Given the description of an element on the screen output the (x, y) to click on. 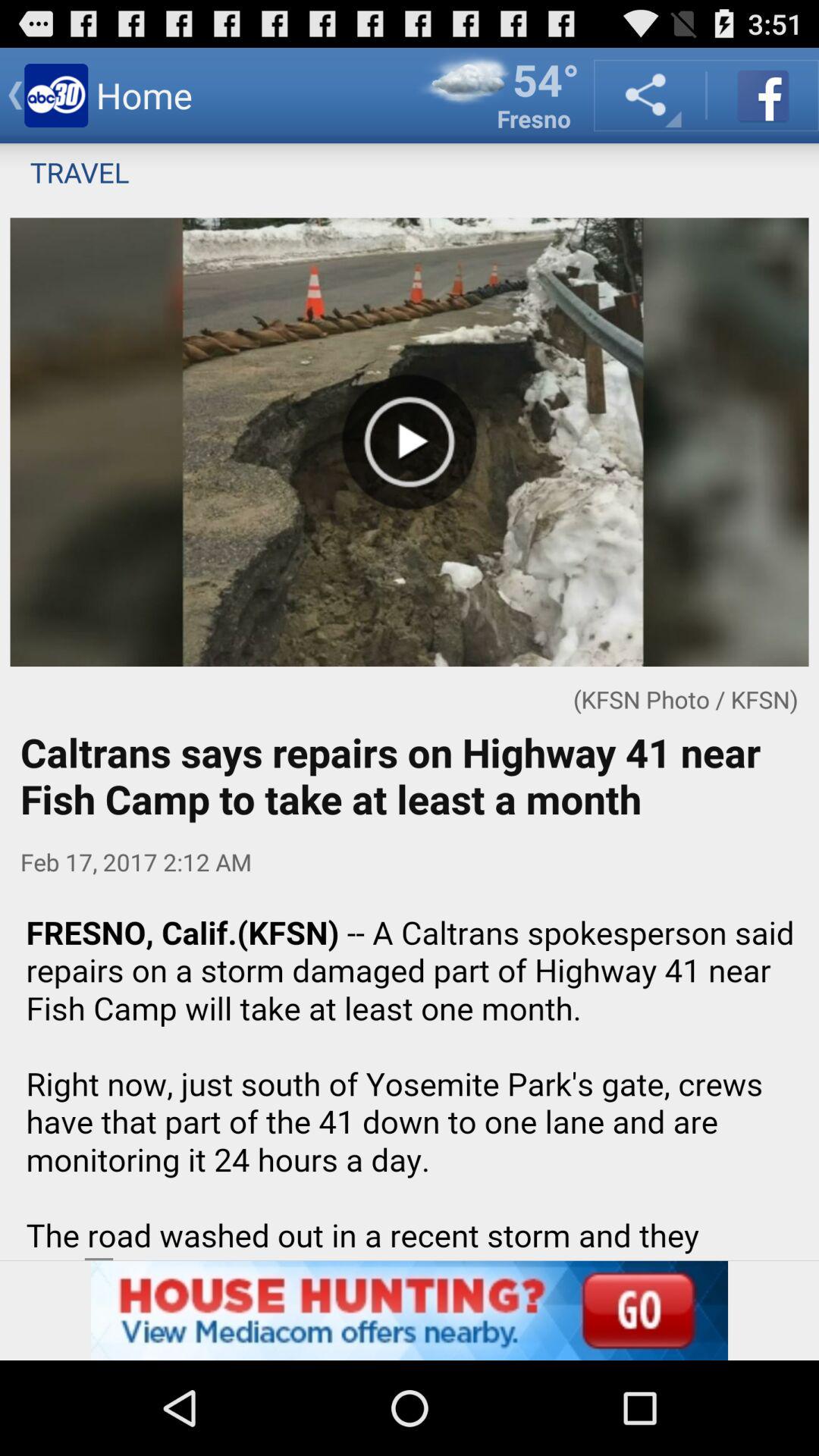
read article (409, 1078)
